Given the description of an element on the screen output the (x, y) to click on. 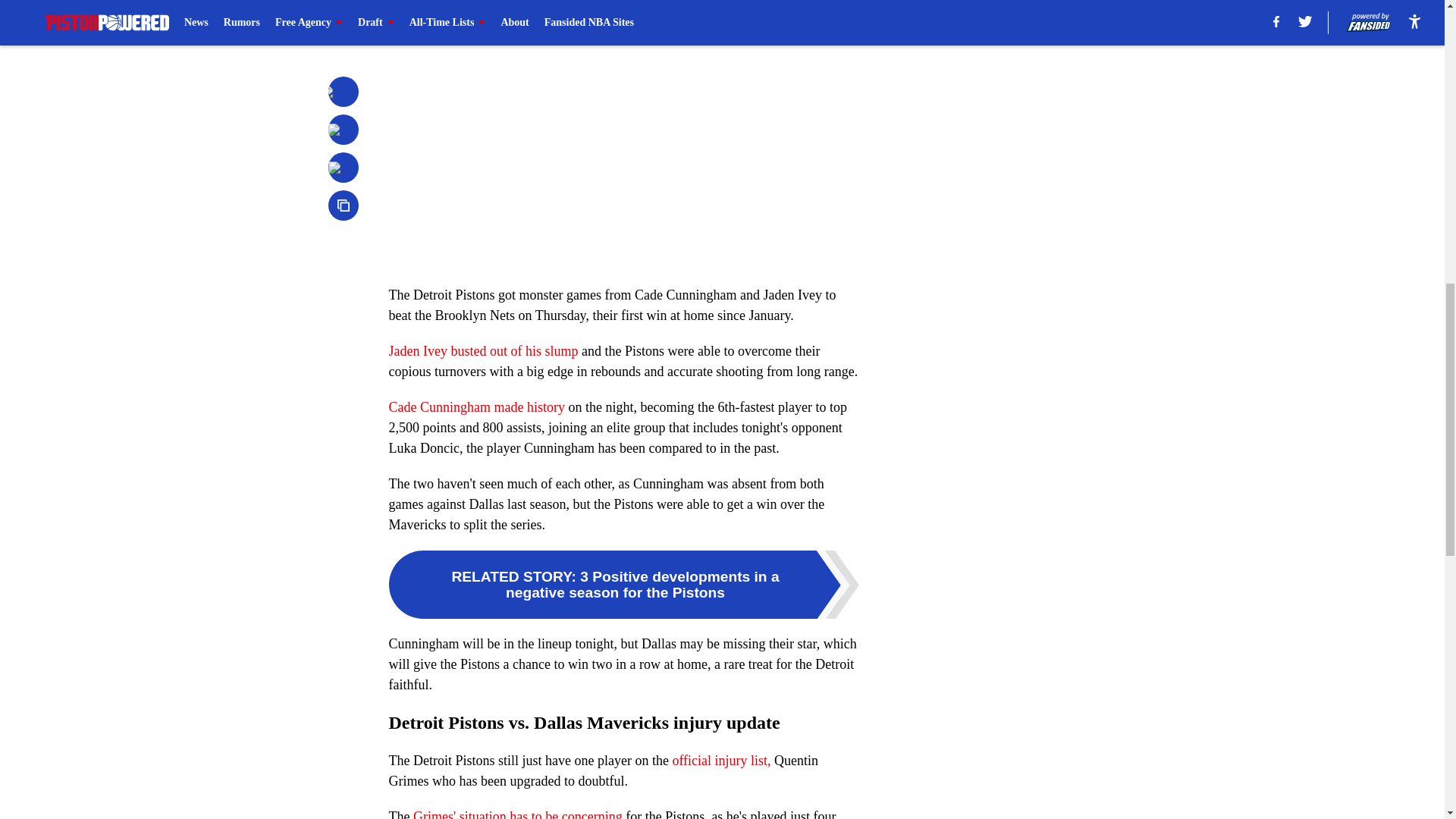
official injury list, (719, 760)
Cade Cunningham made history (476, 406)
Grimes' situation has to be concerning (519, 814)
Jaden Ivey busted out of his slump (483, 350)
